Given the description of an element on the screen output the (x, y) to click on. 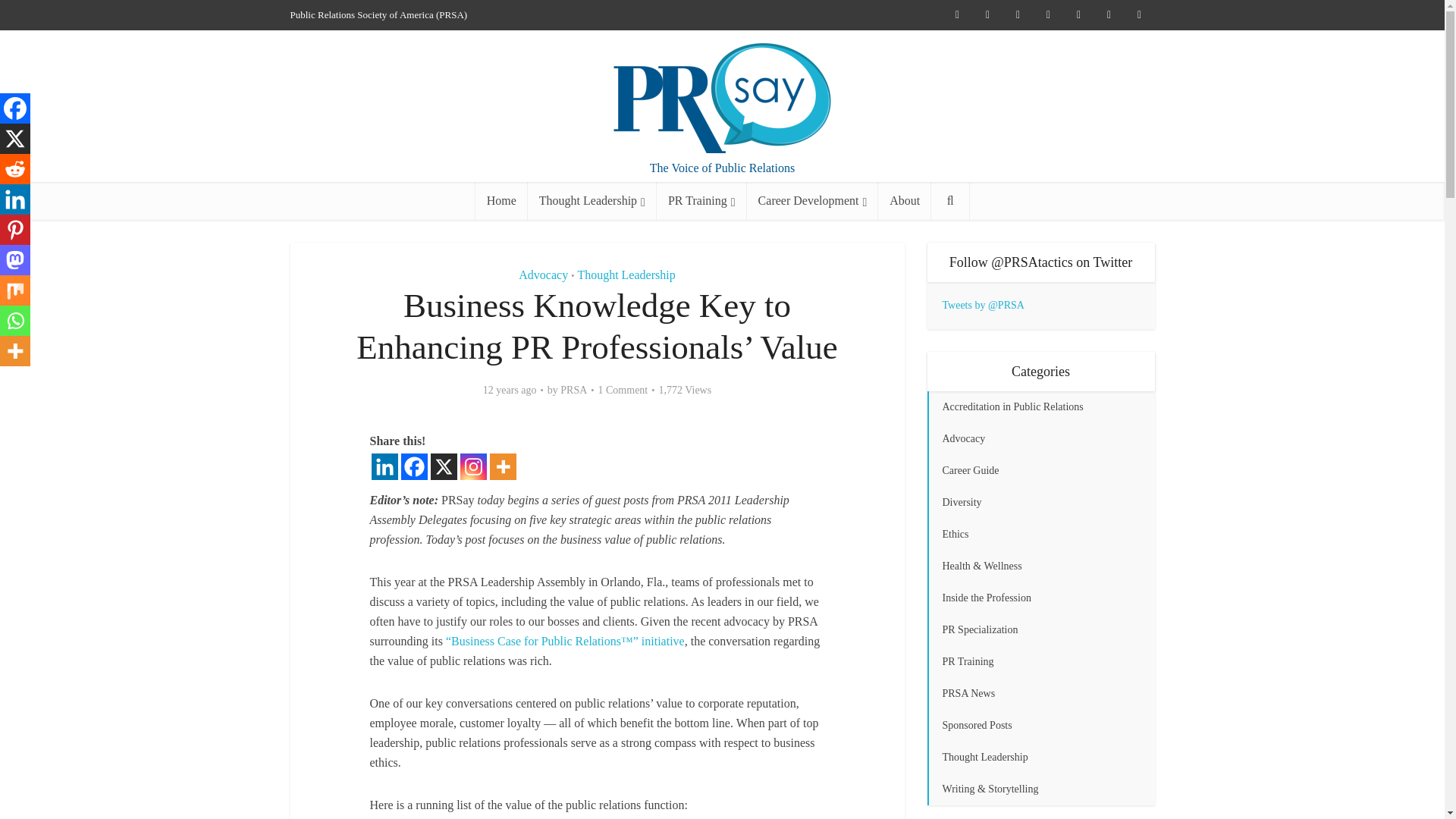
About (904, 200)
1 Comment (622, 390)
Instagram (473, 466)
Thought Leadership (591, 200)
Facebook (413, 466)
More (502, 466)
Mastodon (15, 259)
Home (501, 200)
X (443, 466)
Linkedin (384, 466)
Career Development (812, 200)
Thought Leadership (625, 274)
Mix (15, 290)
PR Training (701, 200)
PRsay (722, 98)
